Given the description of an element on the screen output the (x, y) to click on. 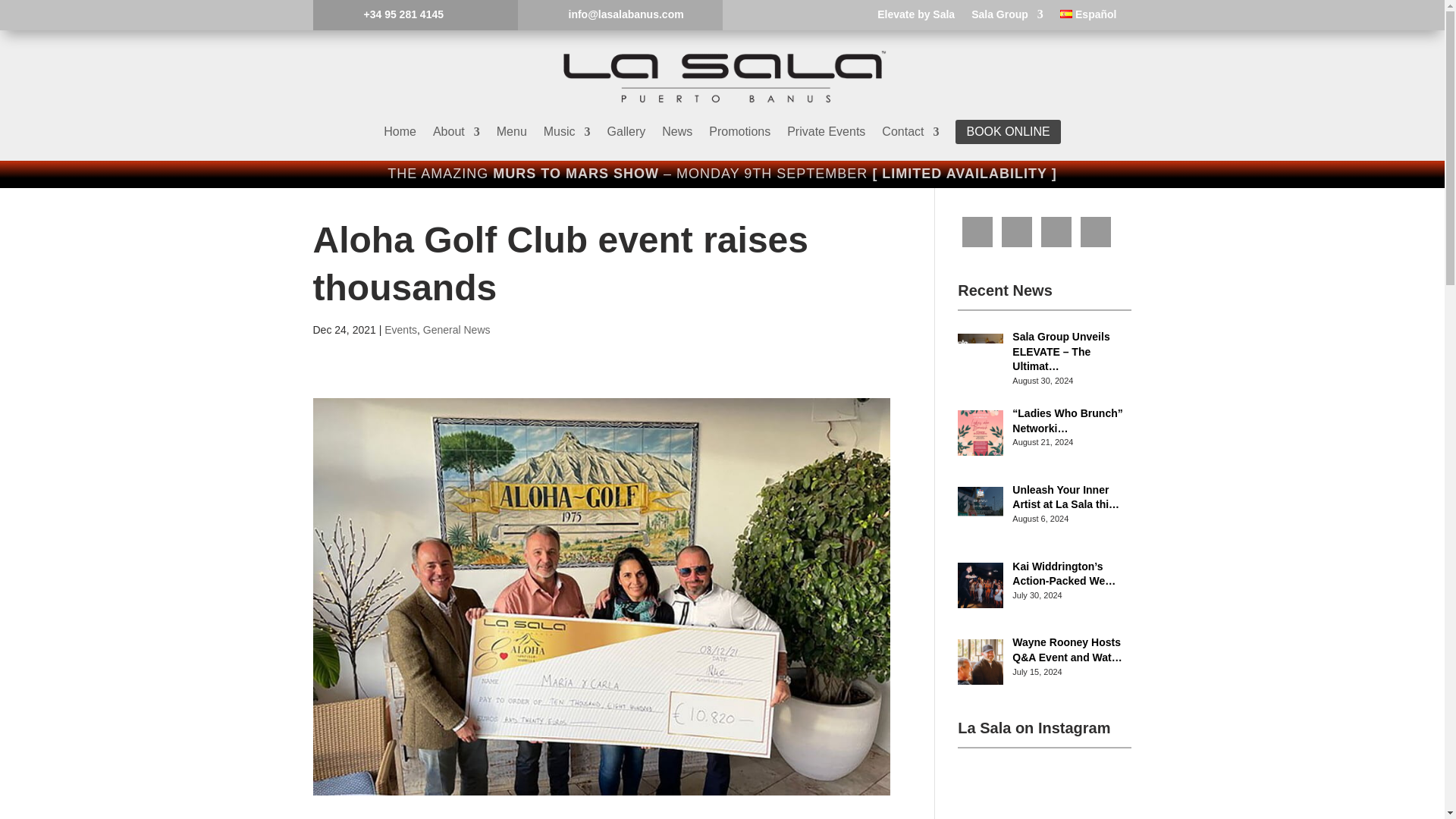
Sala Group (1007, 17)
Contact (910, 131)
Promotions (739, 131)
Get in touch with La Sala Puerto Banus (910, 131)
Elevate by Sala (916, 17)
Online reservation and booking information (1007, 131)
Private Events (825, 131)
Marbella restaurant promotions and offers (739, 131)
BOOK ONLINE (1007, 131)
